Given the description of an element on the screen output the (x, y) to click on. 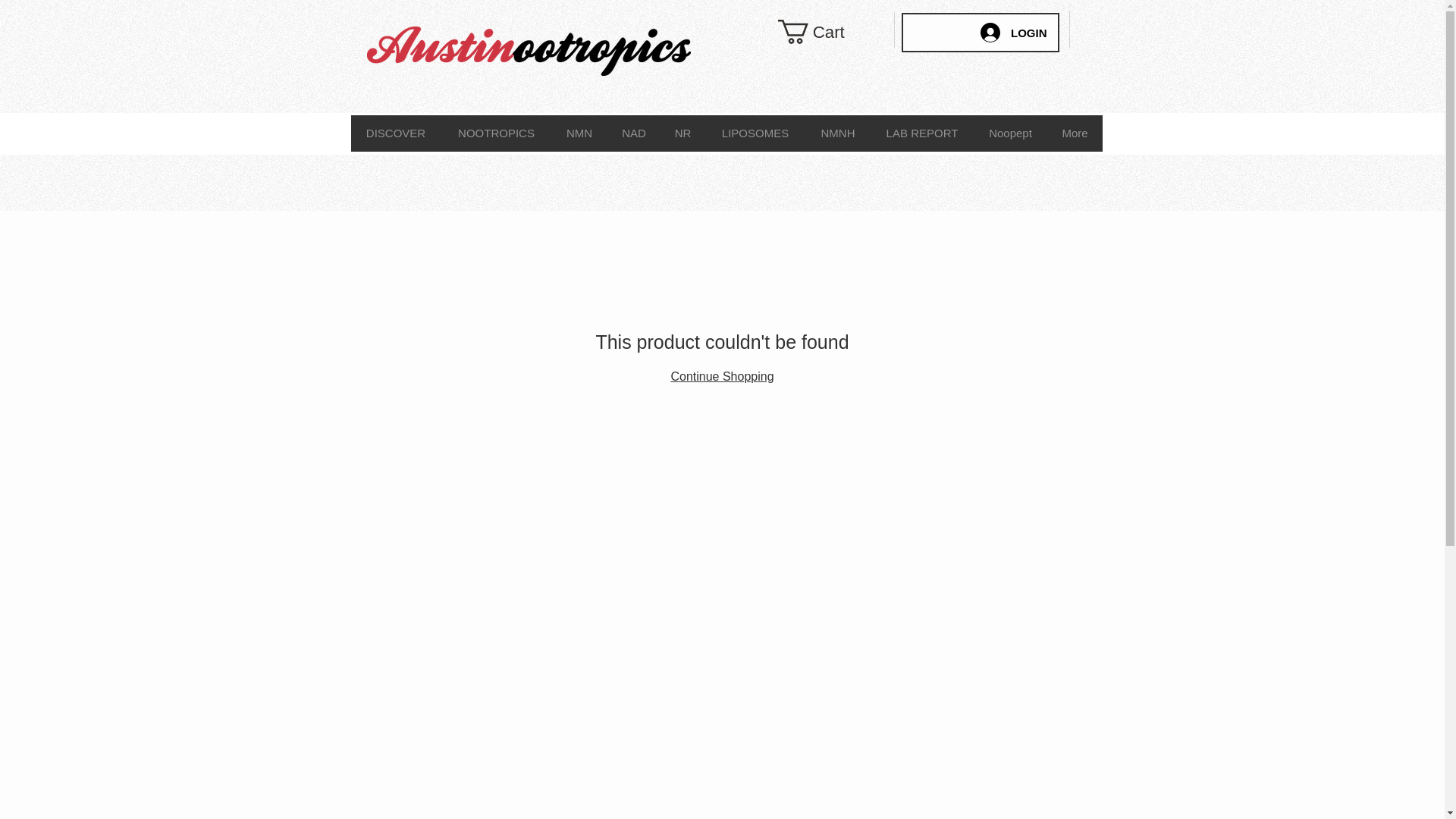
DISCOVER (395, 133)
NMN (578, 133)
NAD (633, 133)
LAB REPORT (922, 133)
LOGIN (1013, 32)
Cart (824, 31)
Continue Shopping (721, 376)
Cart (824, 31)
LIPOSOMES (754, 133)
NMNH (837, 133)
Noopept (1010, 133)
NOOTROPICS (496, 133)
NR (681, 133)
